Given the description of an element on the screen output the (x, y) to click on. 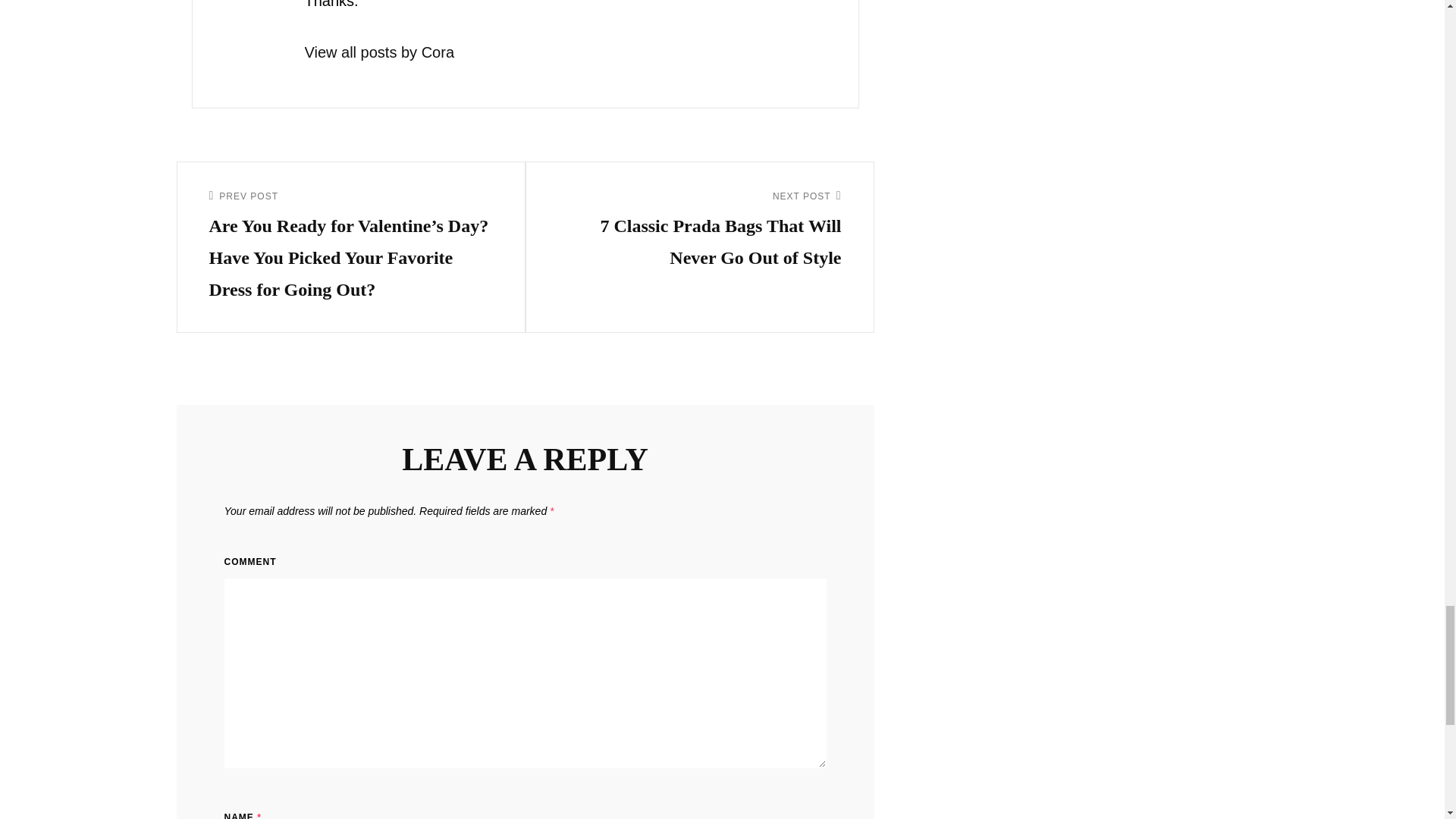
View all posts by Cora (560, 52)
